Given the description of an element on the screen output the (x, y) to click on. 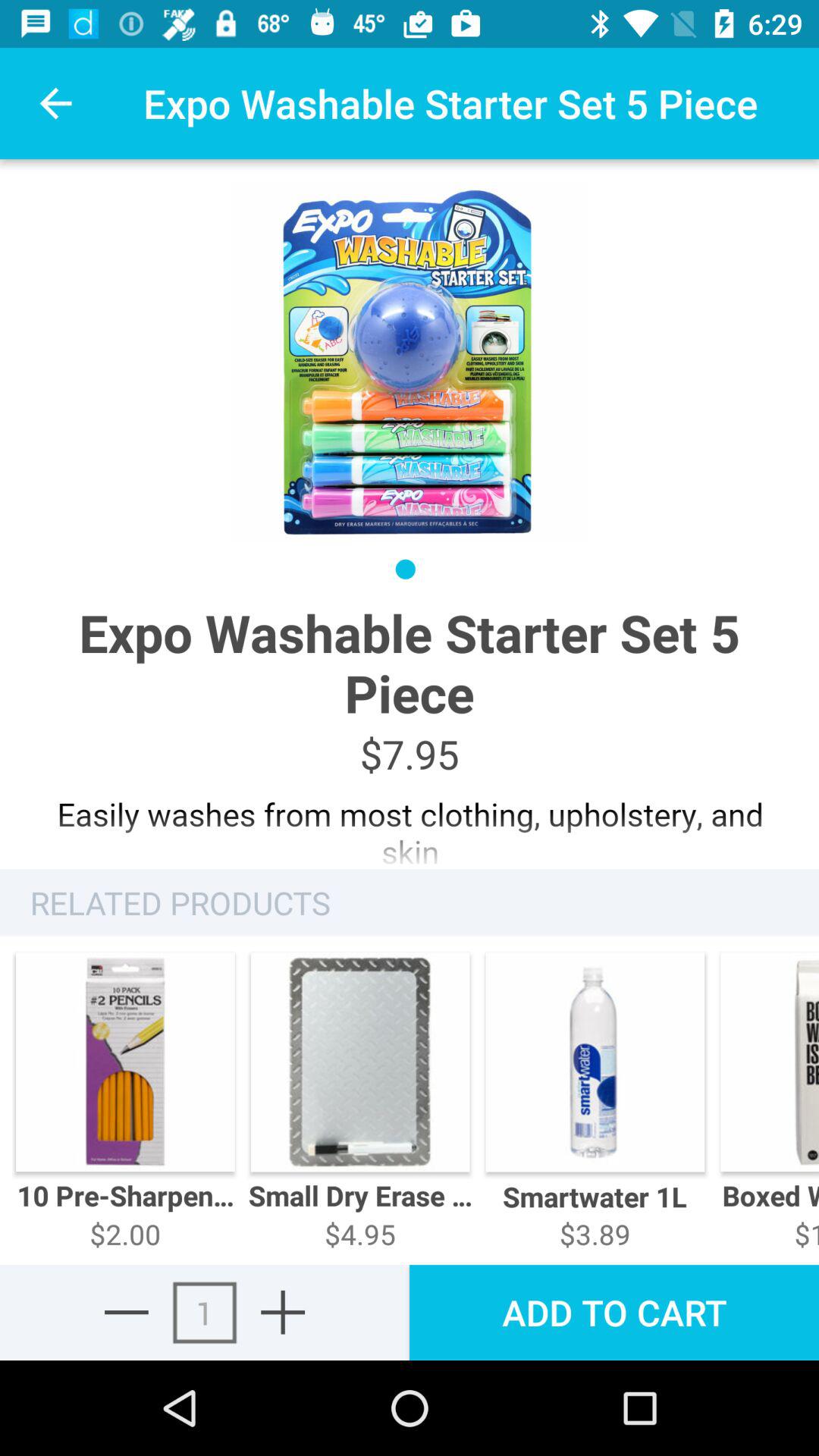
removes an item from the cart (126, 1312)
